Given the description of an element on the screen output the (x, y) to click on. 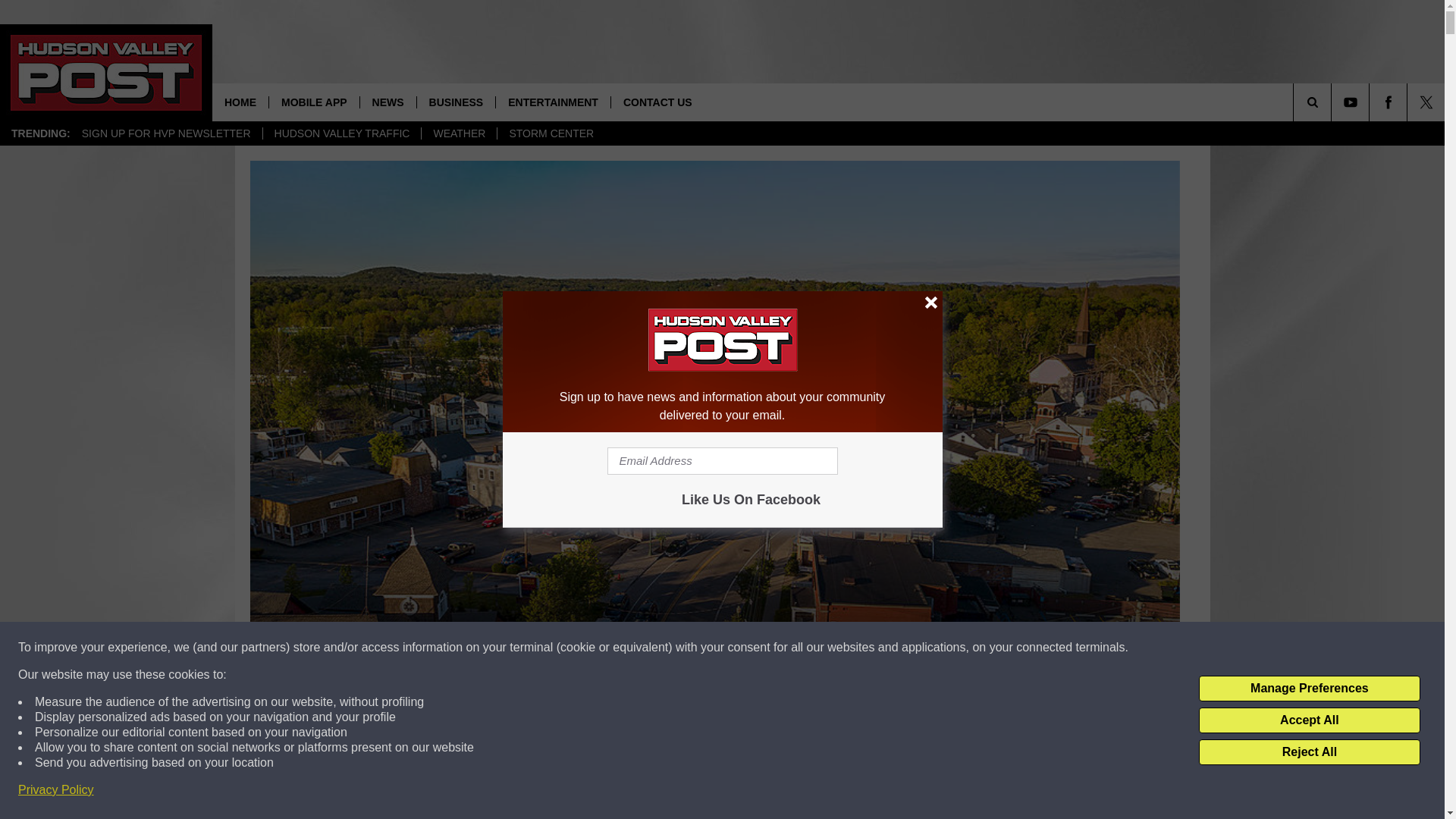
MOBILE APP (313, 102)
Share on Twitter (912, 791)
HUDSON VALLEY TRAFFIC (342, 133)
NEWS (387, 102)
BUSINESS (456, 102)
Reject All (1309, 751)
SIGN UP FOR HVP NEWSLETTER (165, 133)
SEARCH (1333, 102)
Share on Facebook (517, 791)
HOME (239, 102)
Accept All (1309, 720)
WEATHER (458, 133)
Privacy Policy (55, 789)
STORM CENTER (550, 133)
Manage Preferences (1309, 688)
